Given the description of an element on the screen output the (x, y) to click on. 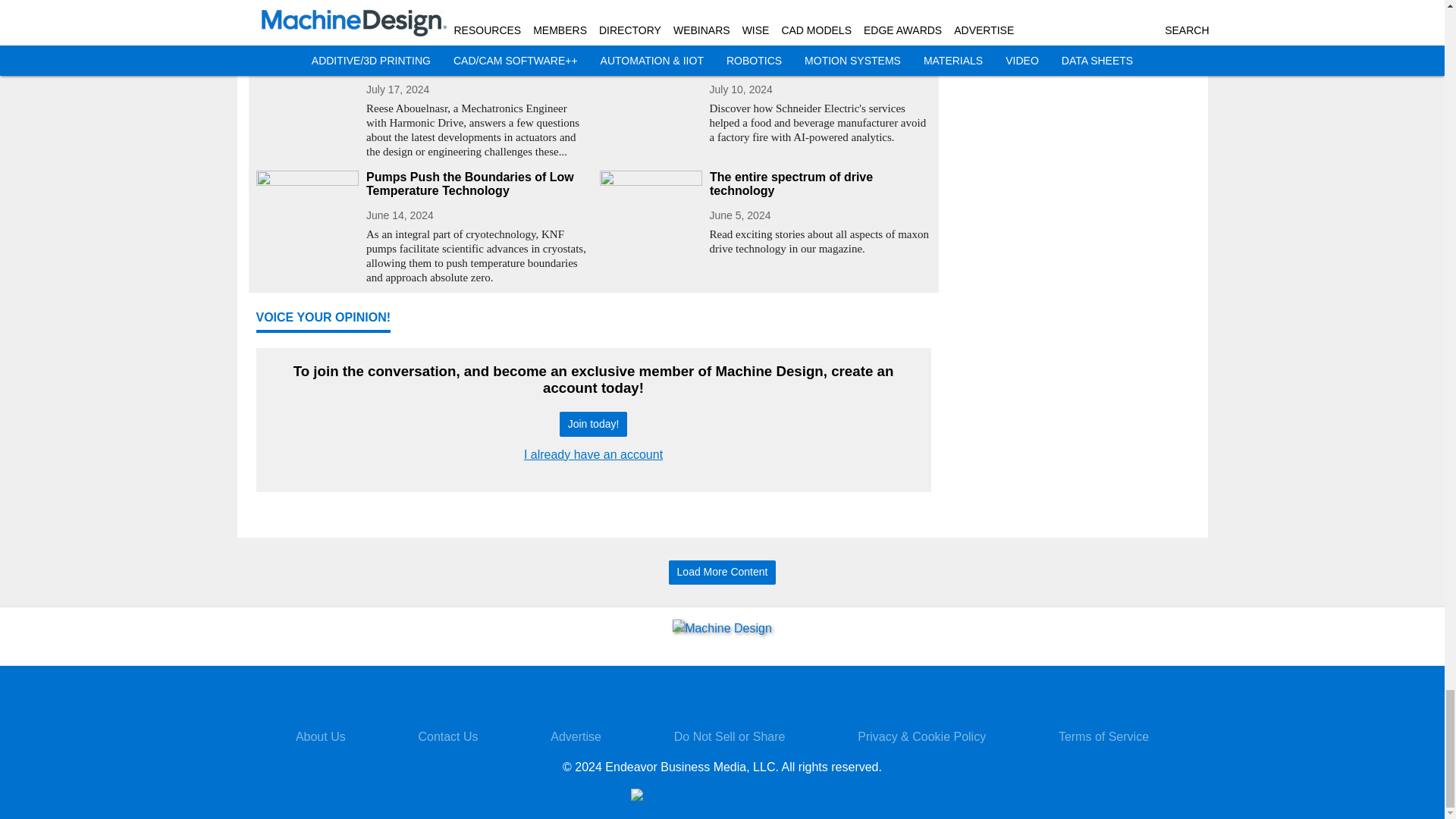
The entire spectrum of drive technology (820, 184)
How to Build Better Robotics with Integrated Actuators (476, 58)
Pumps Push the Boundaries of Low Temperature Technology (476, 184)
